Given the description of an element on the screen output the (x, y) to click on. 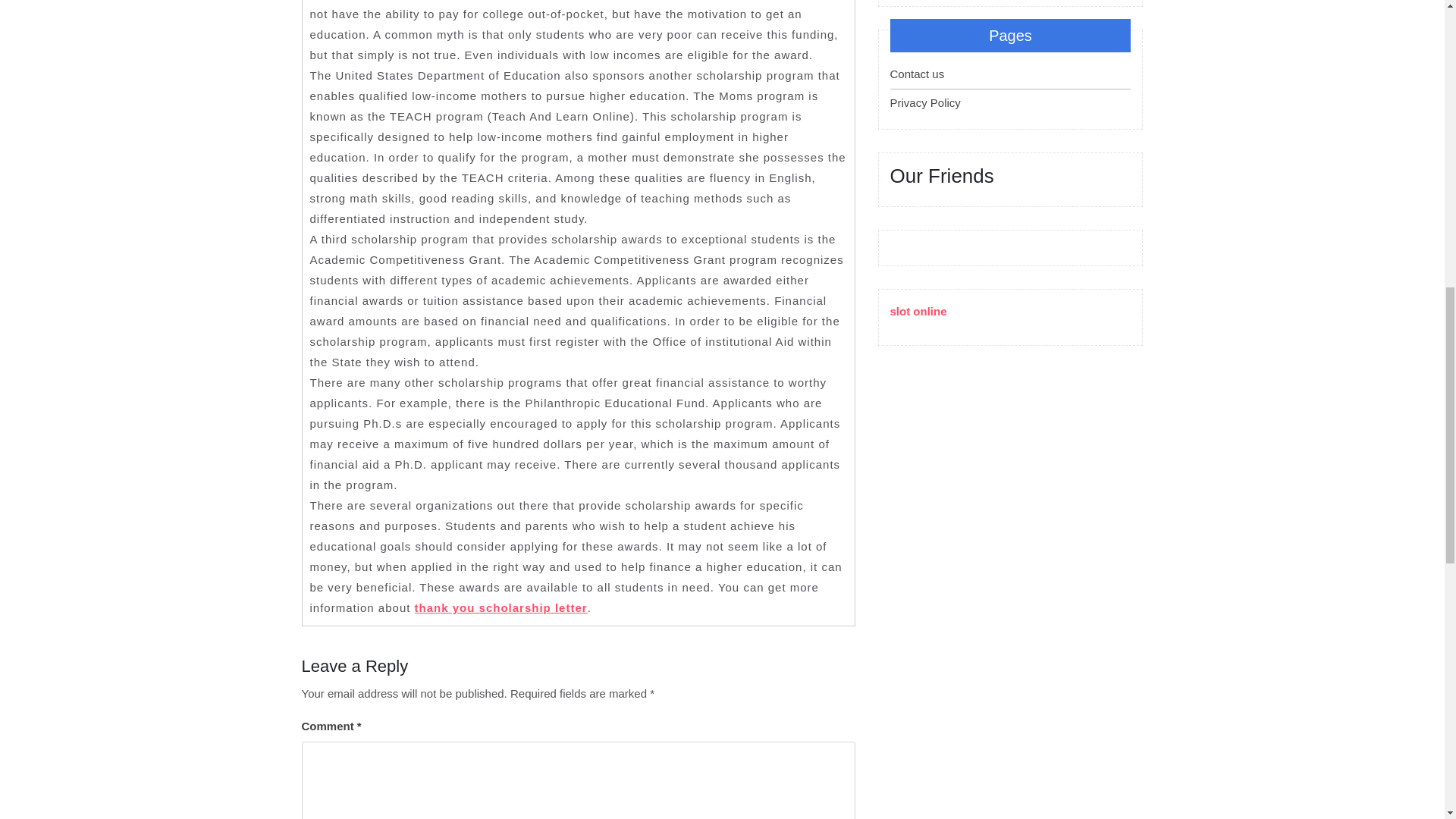
slot online (918, 310)
Contact us (916, 73)
thank you scholarship letter (501, 607)
Privacy Policy (924, 102)
TOP (1397, 73)
